Given the description of an element on the screen output the (x, y) to click on. 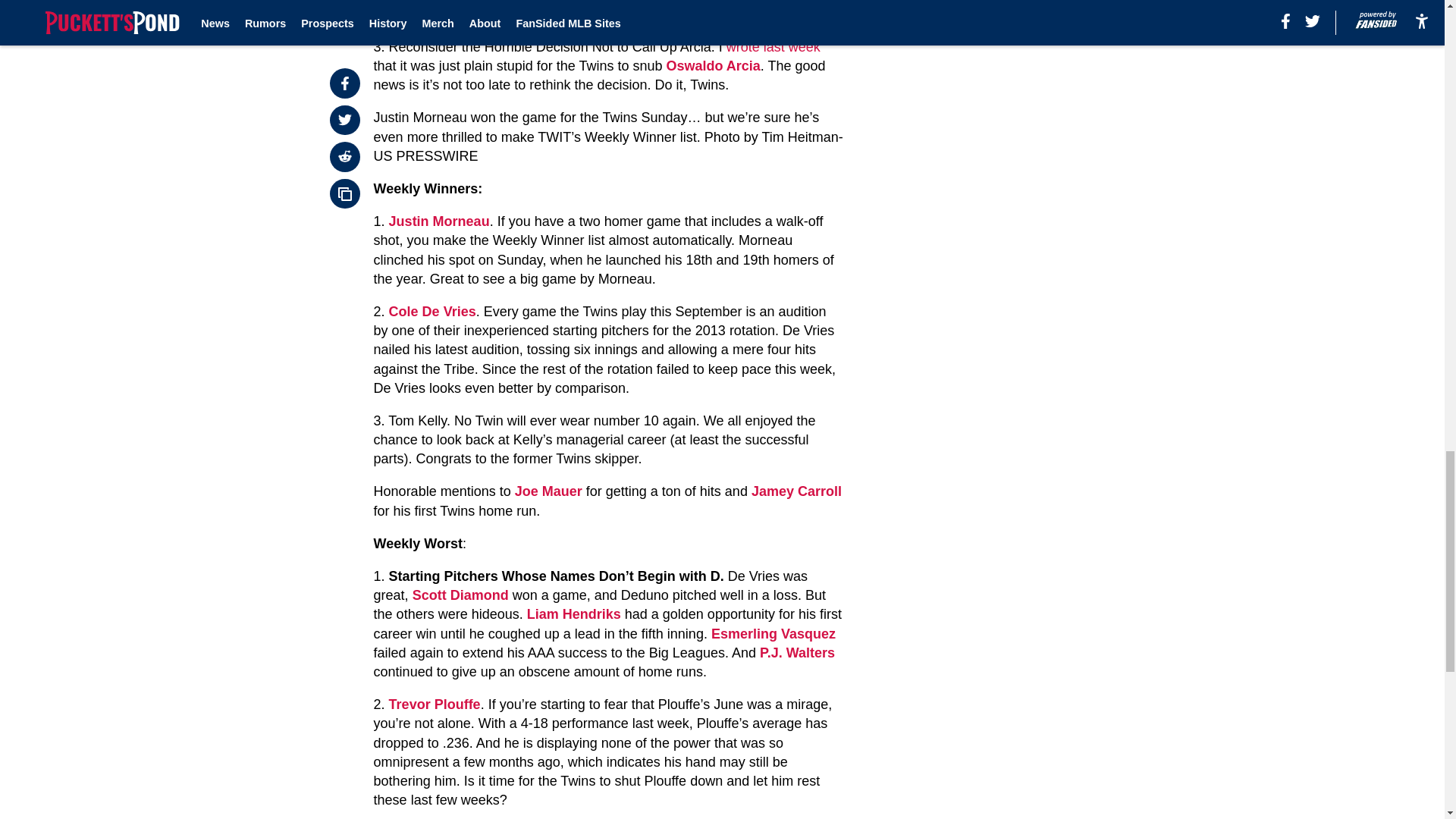
P.J. Walters (797, 652)
Cole De Vries (432, 311)
Oswaldo Arcia (712, 65)
Justin Morneau (438, 221)
Liam Hendriks (574, 613)
Jamey Carroll (796, 491)
Scott Diamond (460, 595)
Trevor Plouffe (434, 703)
Joe Mauer (548, 491)
Esmerling Vasquez (773, 633)
